Given the description of an element on the screen output the (x, y) to click on. 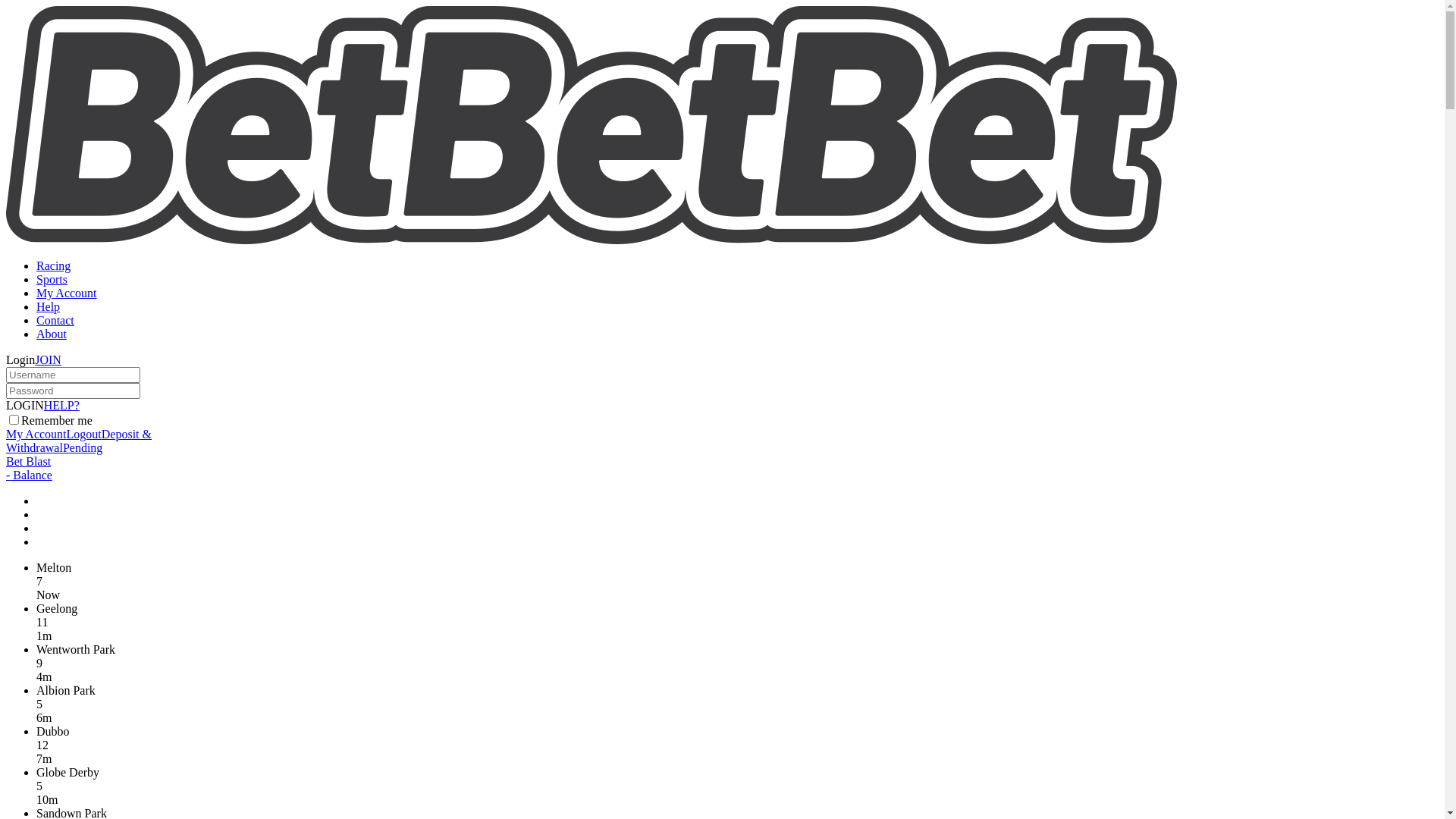
Login Element type: text (20, 359)
Albion Park
5
6m Element type: text (737, 704)
Geelong
11
1m Element type: text (737, 622)
LOGIN Element type: text (24, 404)
Bet Blast
- Element type: text (28, 468)
Logout Element type: text (83, 433)
Pending Element type: text (110, 454)
Help Element type: text (47, 306)
Sports Element type: text (51, 279)
My Account Element type: text (36, 433)
Wentworth Park
9
4m Element type: text (737, 663)
About Element type: text (51, 333)
Dubbo
12
7m Element type: text (737, 744)
Deposit &
Withdrawal Element type: text (78, 440)
My Account Element type: text (66, 292)
Melton
7
Now Element type: text (737, 581)
HELP? Element type: text (61, 404)
JOIN Element type: text (47, 359)
Globe Derby
5
10m Element type: text (737, 785)
Balance Element type: text (30, 474)
Contact Element type: text (55, 319)
Racing Element type: text (53, 265)
